Given the description of an element on the screen output the (x, y) to click on. 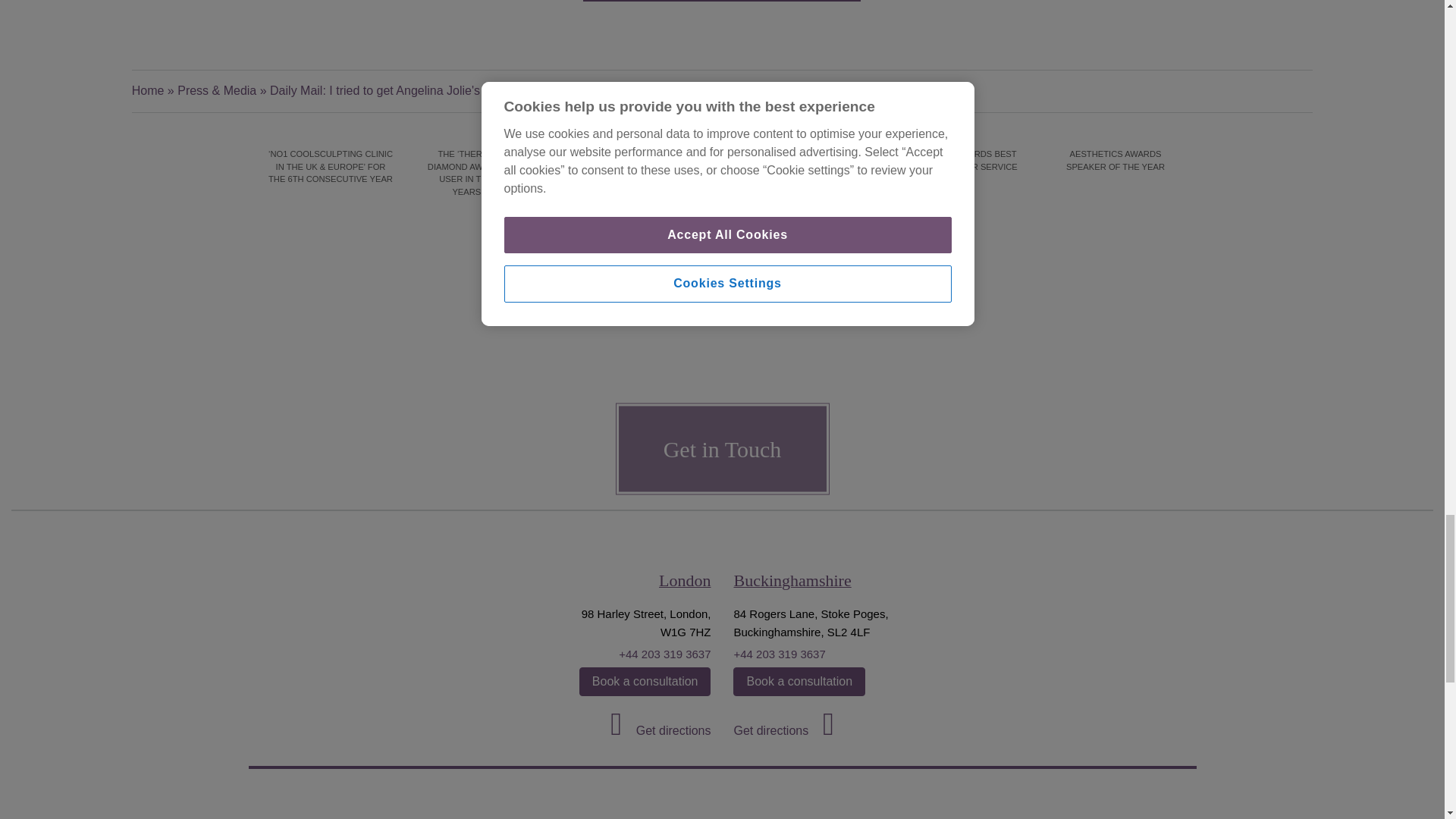
AESTHETICS AWARDS BEST CLINIC CUSTOMER SERVICE (958, 160)
AESTHETICS AWARDS SPEAKER OF THE YEAR (1114, 160)
Home (148, 90)
London (684, 579)
Get in Touch (721, 448)
AESTHETICS AWARDS BEST CLINIC (800, 160)
